Given the description of an element on the screen output the (x, y) to click on. 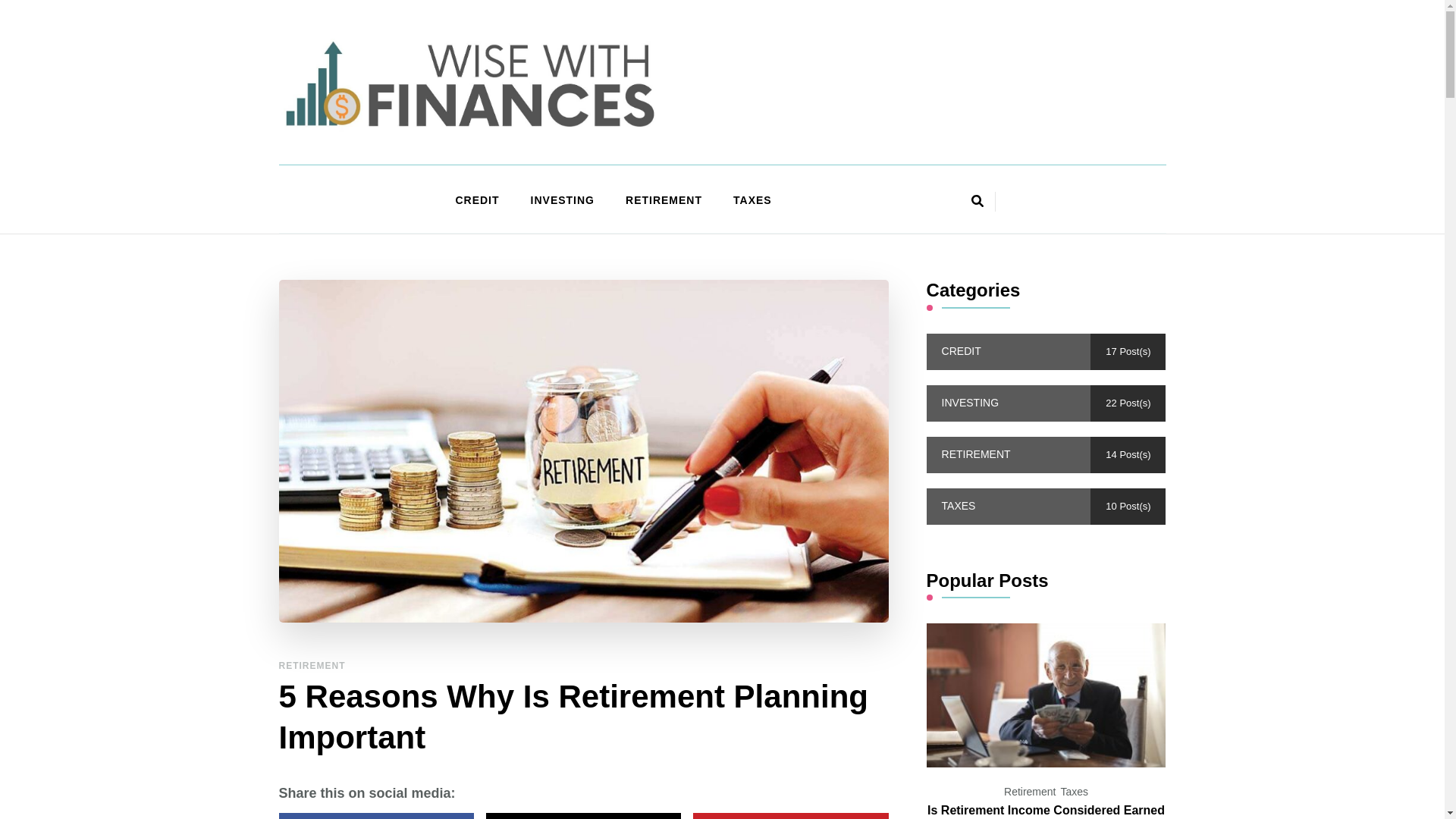
Pinterest (790, 816)
Share on X (583, 816)
RETIREMENT (663, 200)
Share on Facebook (376, 816)
Facebook (376, 816)
TAXES (752, 200)
Wise With Finances (424, 150)
INVESTING (562, 200)
Save to Pinterest (790, 816)
Twitter (583, 816)
CREDIT (476, 200)
RETIREMENT (312, 665)
